Given the description of an element on the screen output the (x, y) to click on. 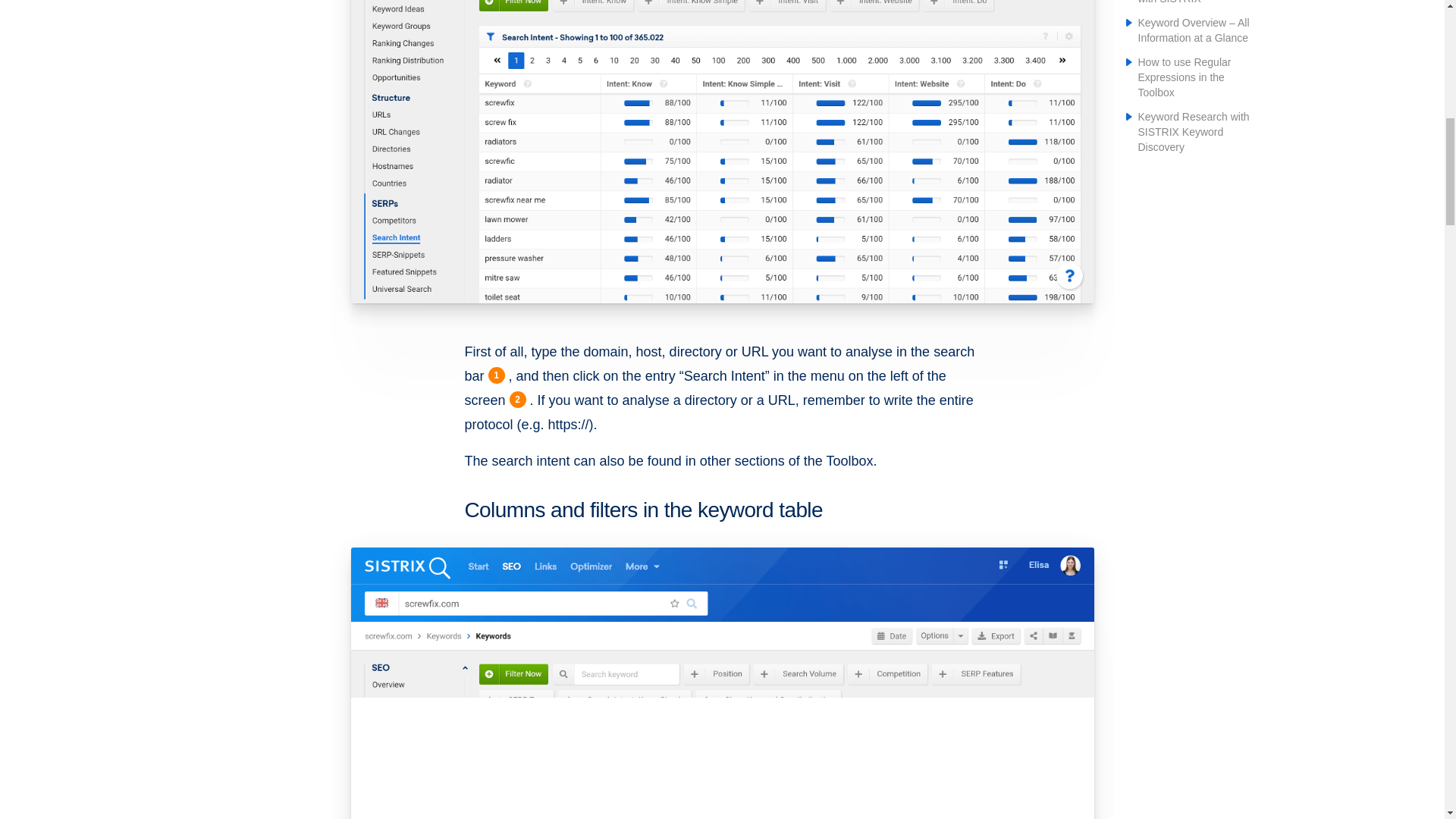
Keyword Research with SISTRIX Keyword Discovery (1193, 131)
Finding Keyword Ideas with SISTRIX (1190, 2)
Keyword Research with SISTRIX Keyword Discovery (1193, 131)
Finding Keyword Ideas with SISTRIX (1190, 2)
How to use Regular Expressions in the Toolbox (1183, 77)
How to use Regular Expressions in the Toolbox (1183, 77)
